Given the description of an element on the screen output the (x, y) to click on. 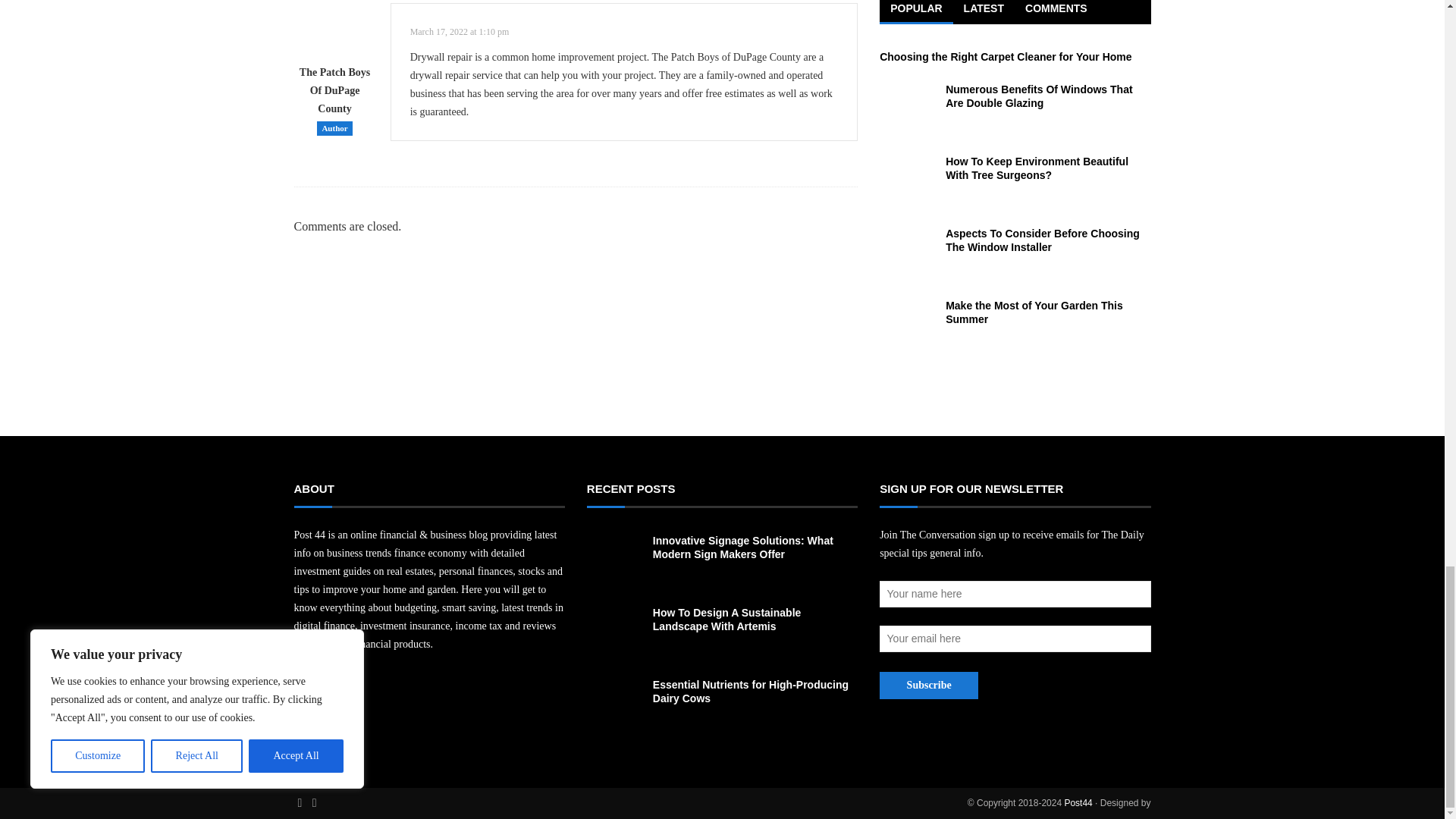
Comments (1055, 12)
Thursday, March 17, 2022, 1:10 pm (459, 31)
Subscribe (928, 685)
Popular (915, 12)
Latest (983, 12)
